Given the description of an element on the screen output the (x, y) to click on. 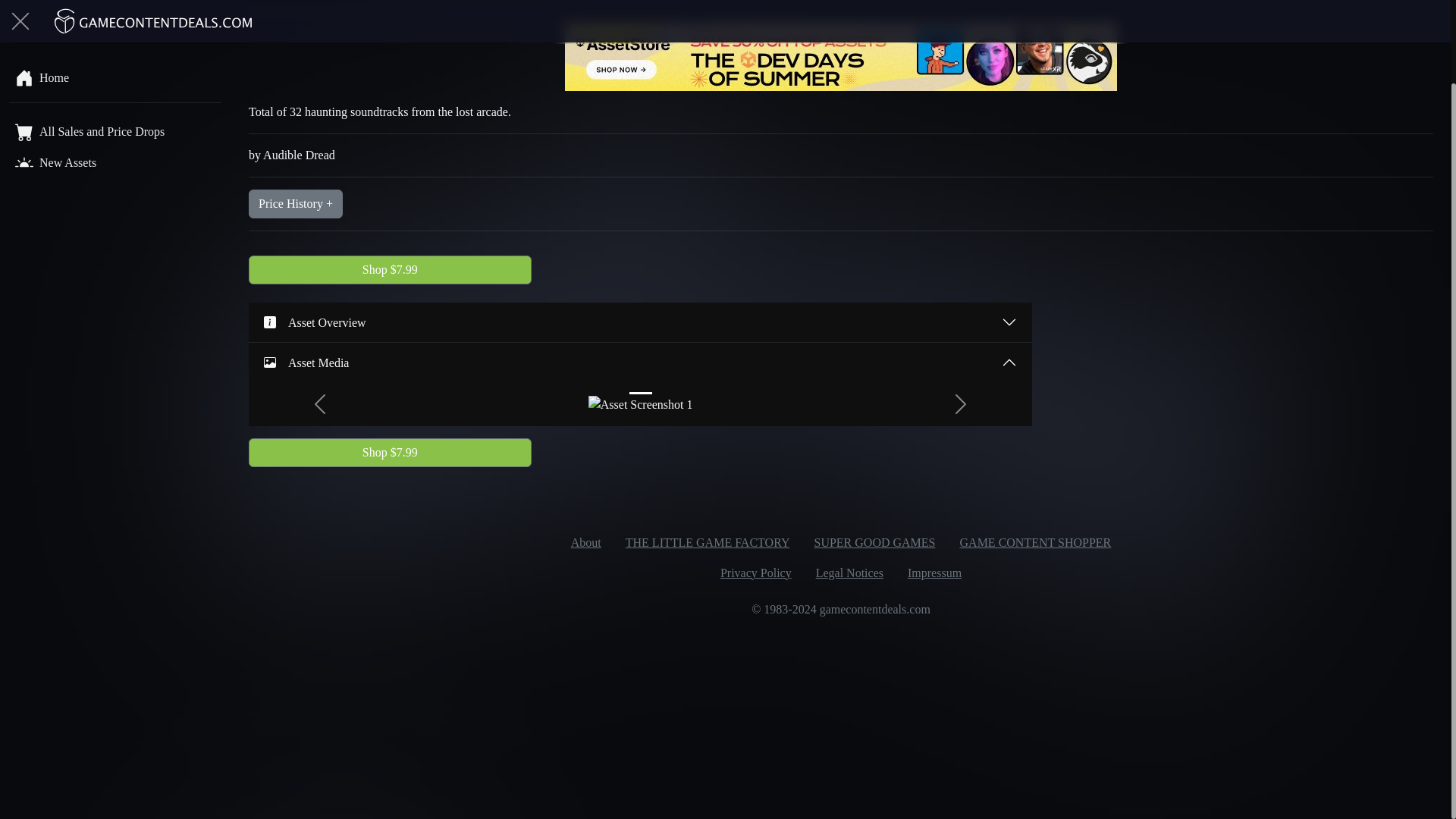
Next (960, 403)
All Sales and Price Drops (114, 37)
New Assets (114, 69)
About (585, 542)
Asset Media (640, 362)
Legal Notices (849, 572)
Privacy Policy (755, 572)
GAME CONTENT SHOPPER (1035, 542)
THE LITTLE GAME FACTORY (707, 542)
SUPER GOOD GAMES (874, 542)
